Given the description of an element on the screen output the (x, y) to click on. 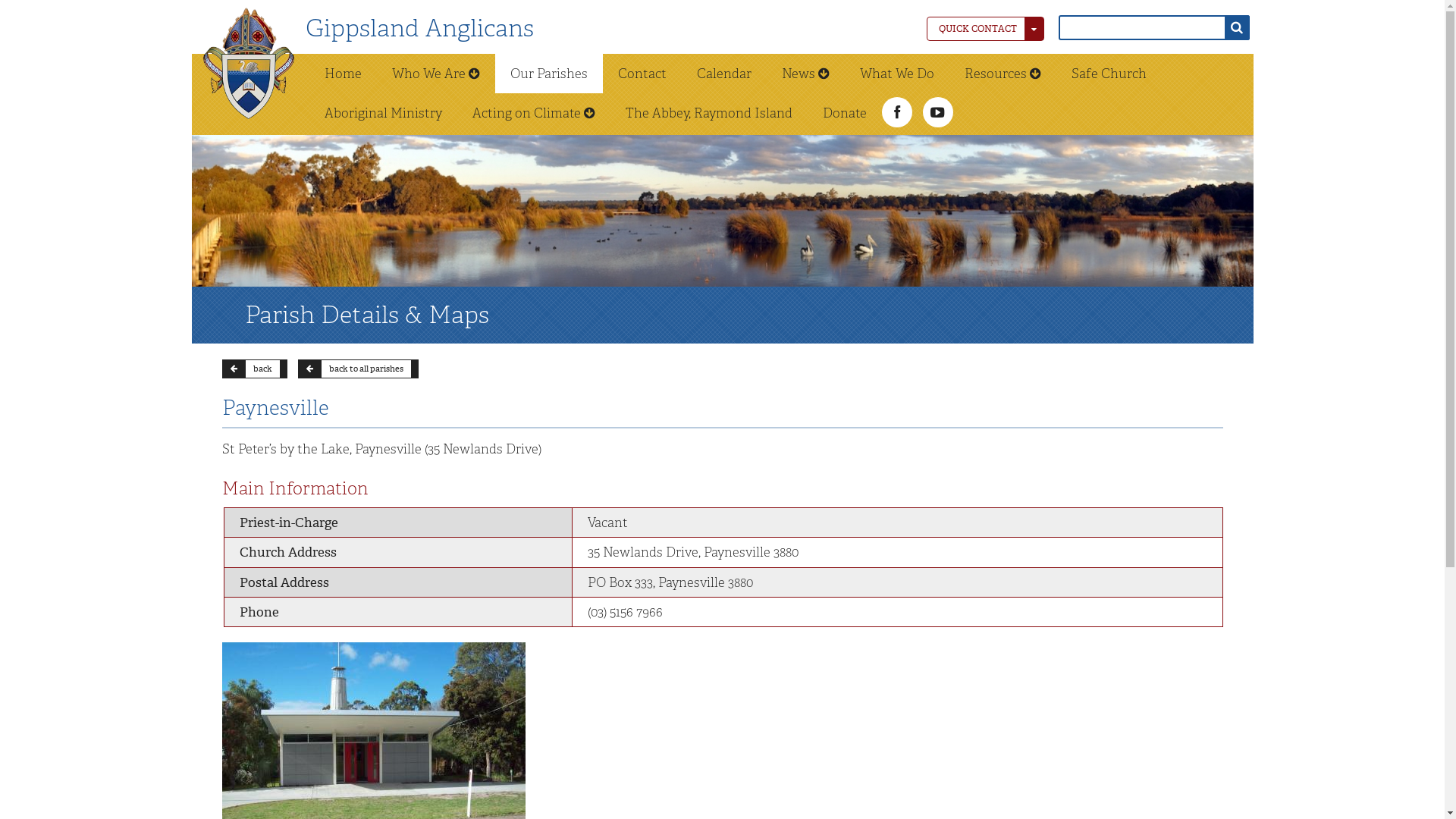
QUICK CONTACT Element type: text (985, 28)
back Element type: text (253, 369)
Calendar Element type: text (722, 73)
back to all parishes Element type: text (357, 369)
What We Do Element type: text (896, 73)
Gippsland Anglicans Element type: text (418, 28)
Safe Church Element type: text (1108, 73)
News Element type: text (804, 73)
Donate Element type: text (843, 112)
Aboriginal Ministry Element type: text (383, 112)
Who We Are Element type: text (435, 73)
Contact Element type: text (641, 73)
Resources Element type: text (1002, 73)
Our Parishes Element type: text (548, 73)
Home Element type: text (342, 73)
The Abbey, Raymond Island Element type: text (707, 112)
Acting on Climate Element type: text (532, 112)
